Given the description of an element on the screen output the (x, y) to click on. 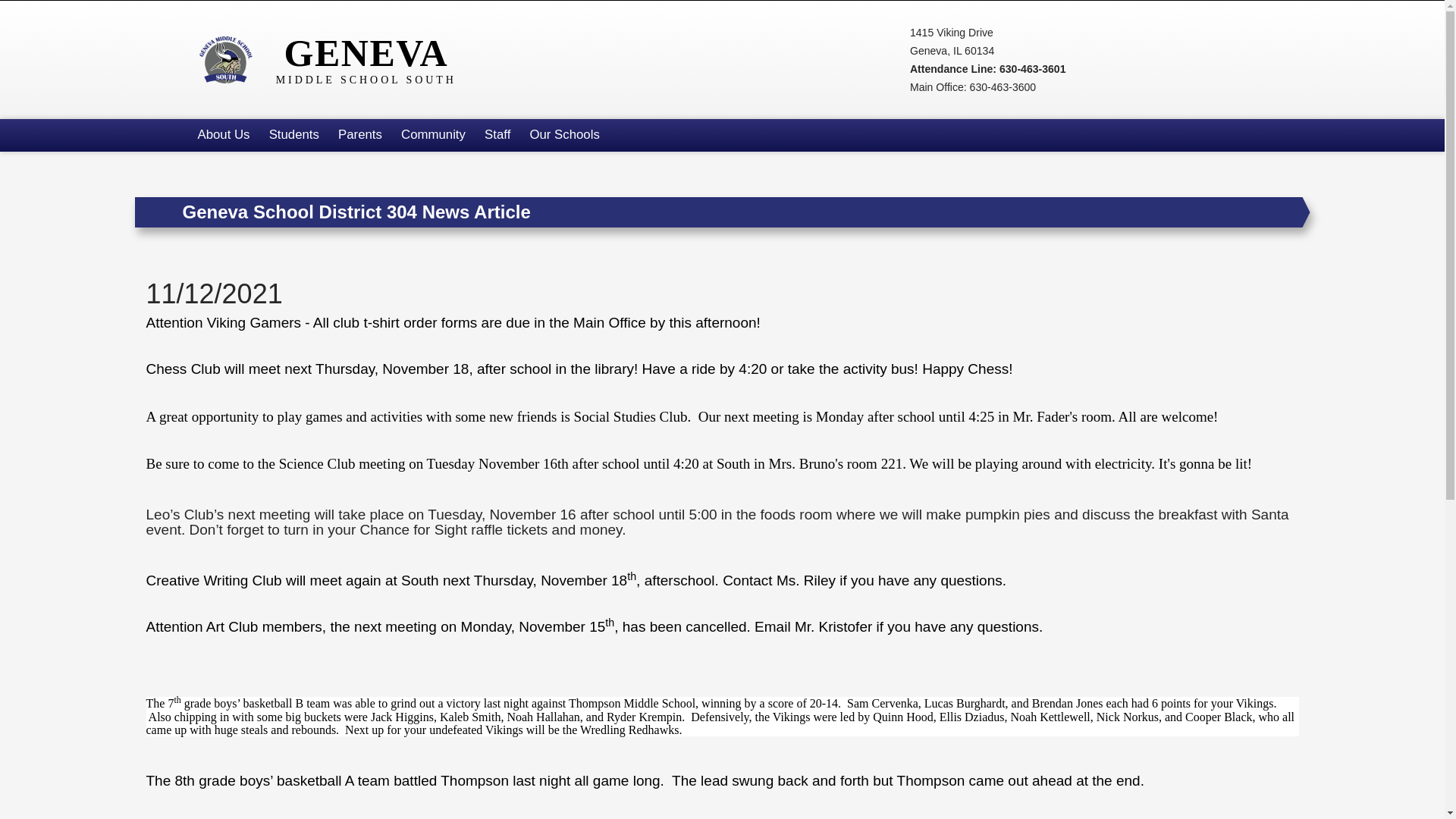
About Us (335, 59)
Students (223, 135)
